Given the description of an element on the screen output the (x, y) to click on. 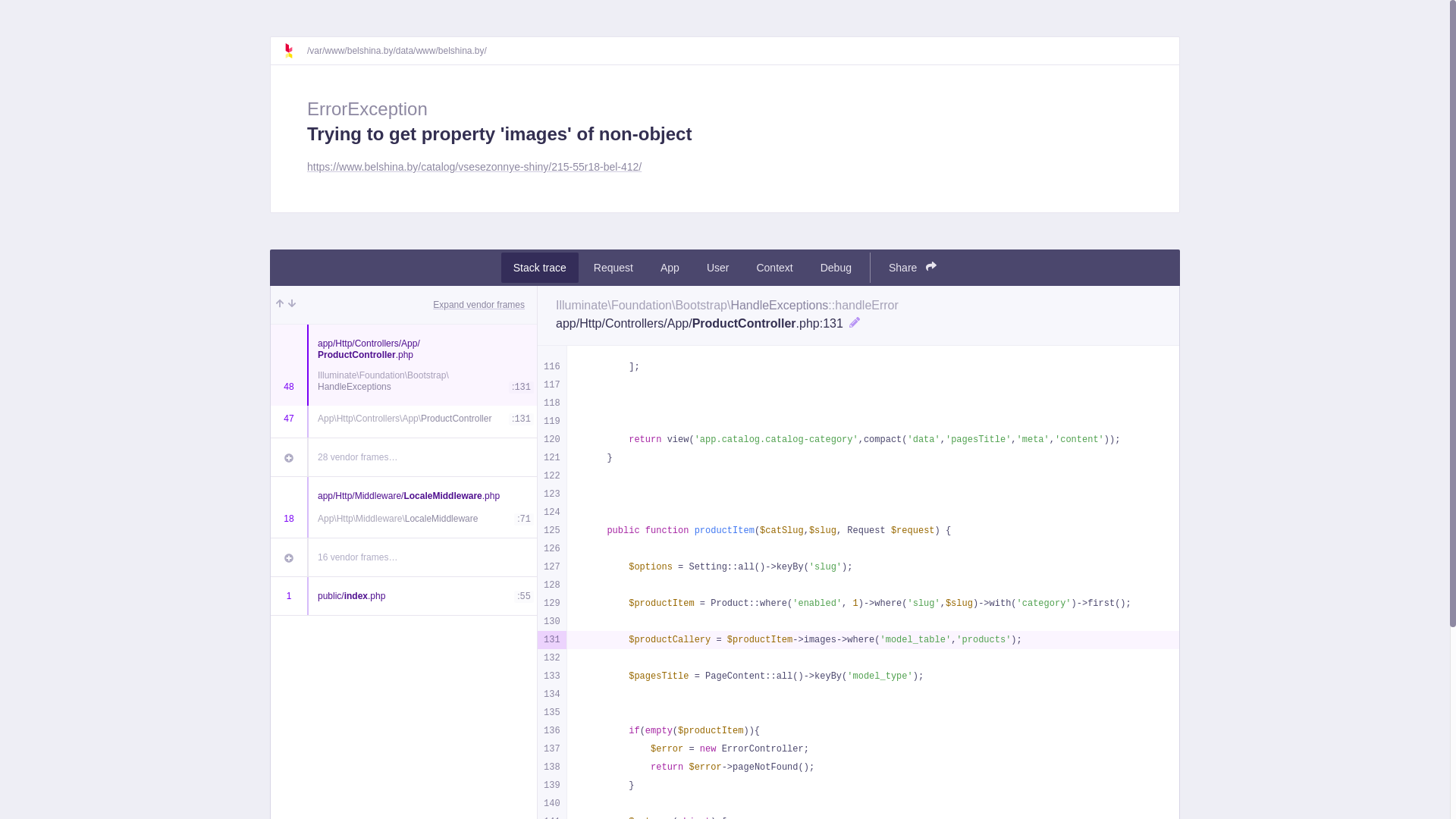
Context Element type: text (773, 267)
Expand vendor frames Element type: text (478, 304)
Stack trace Element type: text (539, 267)
Frame up (Key:K) Element type: hover (279, 304)
Debug Element type: text (835, 267)
Ignition docs Element type: hover (294, 50)
Frame down (Key:J) Element type: hover (291, 304)
App Element type: text (669, 267)
User Element type: text (717, 267)
Share Element type: text (912, 267)
Request Element type: text (613, 267)
